Given the description of an element on the screen output the (x, y) to click on. 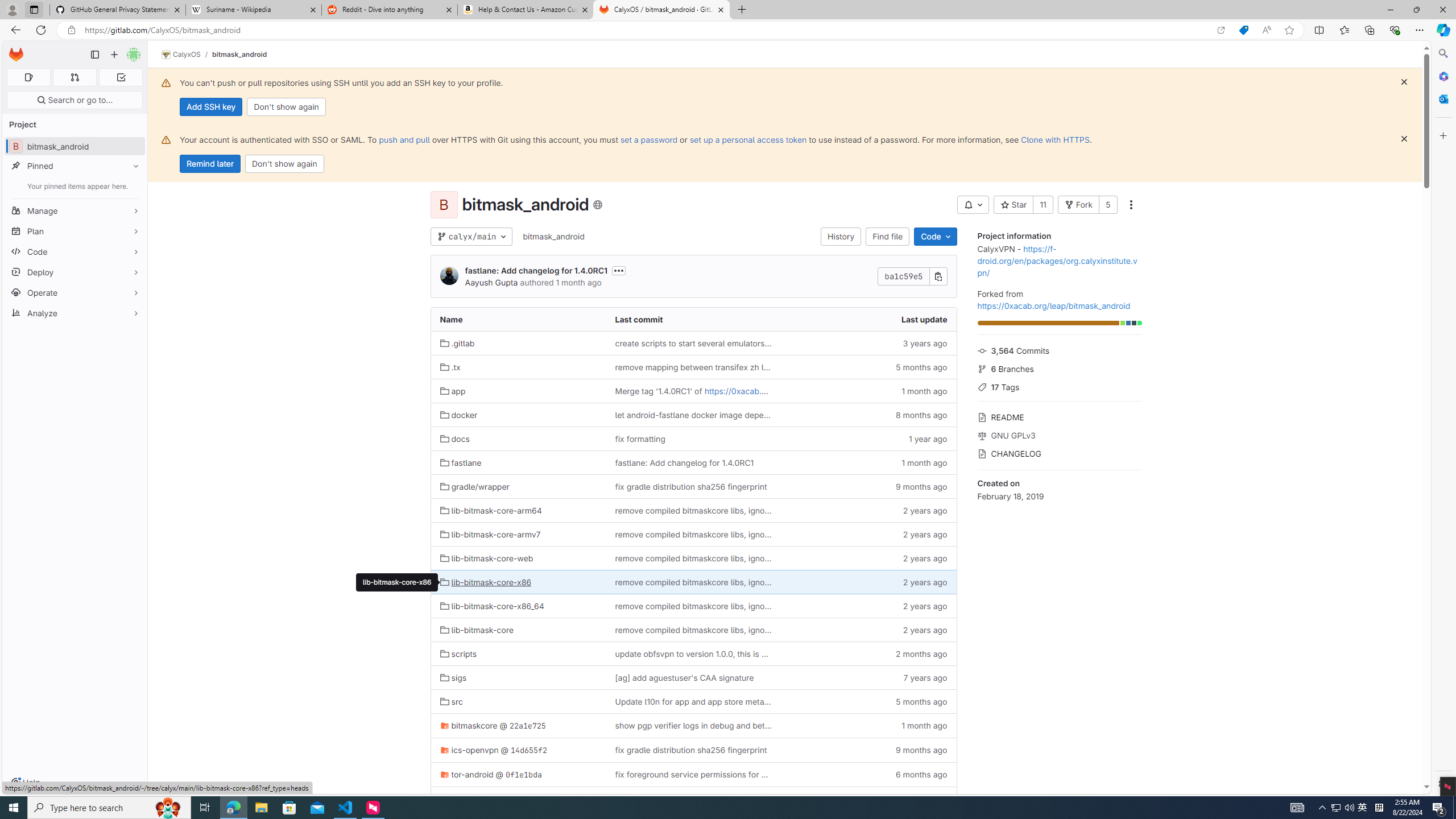
9 months ago (868, 749)
.tx (517, 366)
Plan (74, 230)
app (452, 390)
lib-bitmask-core-arm64 (490, 510)
[ag] add aguestuser's CAA signature (693, 677)
Dismiss (1403, 138)
show pgp verifier logs in debug and beta builds (692, 725)
README (1058, 416)
docker (458, 414)
Shopping in Microsoft Edge (1243, 29)
8 months ago (868, 414)
Find file (888, 236)
.gitignore (517, 798)
